Given the description of an element on the screen output the (x, y) to click on. 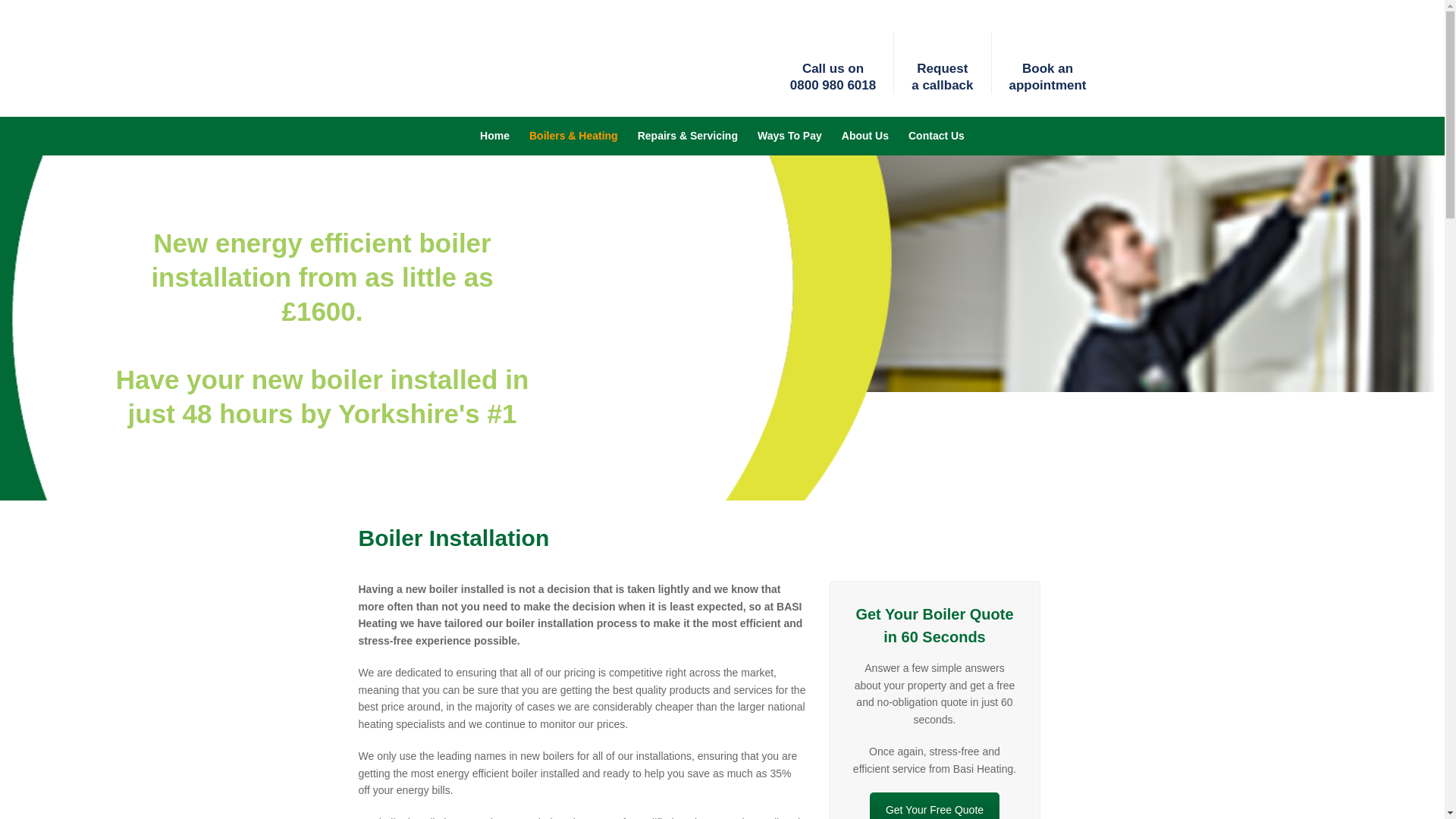
Ways To Pay (789, 136)
About Us (864, 136)
Home (499, 136)
basiheating.co.uk (413, 95)
Contact Us (930, 136)
